Given the description of an element on the screen output the (x, y) to click on. 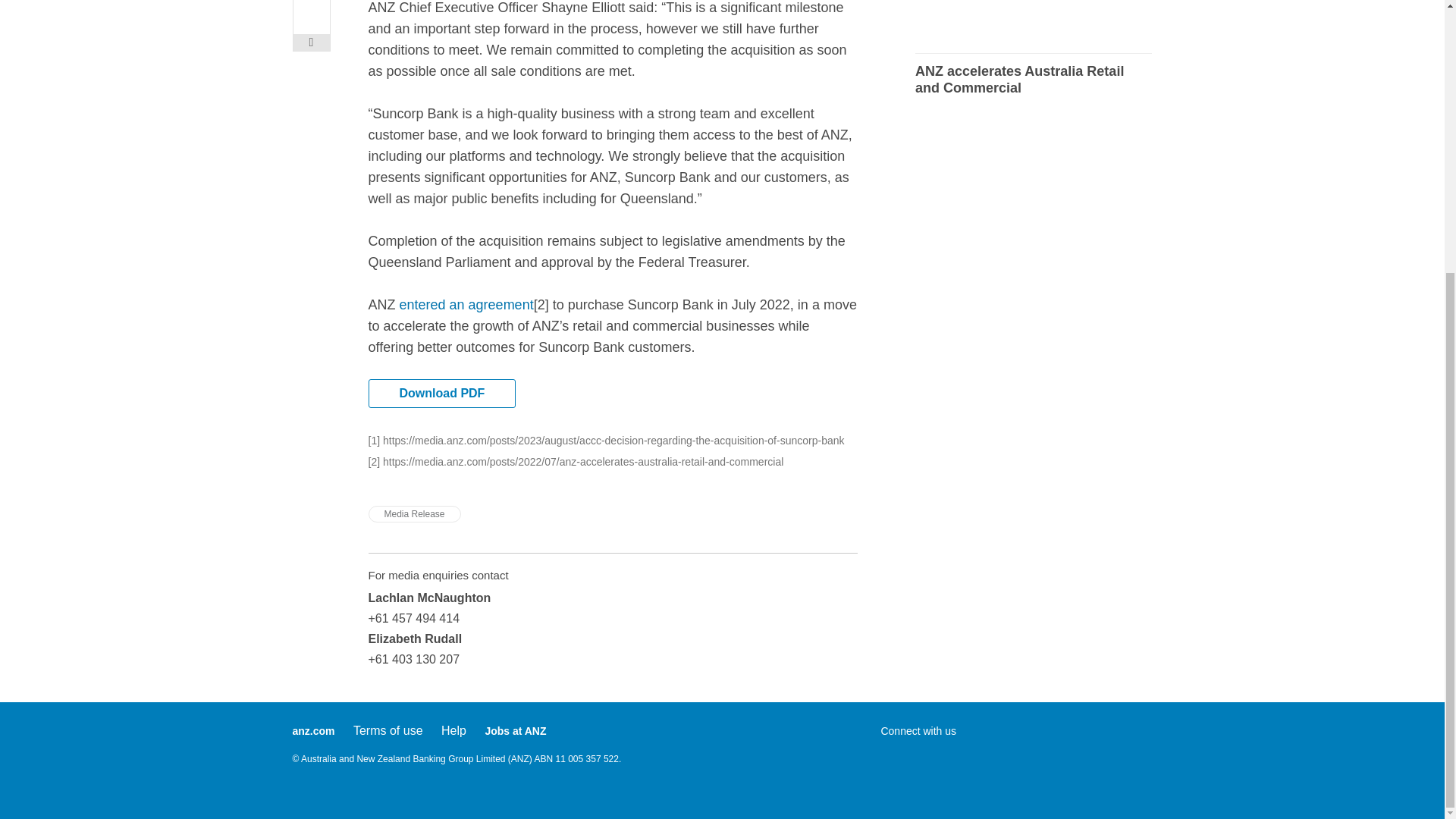
Jobs at ANZ (515, 730)
anz.com (313, 730)
ANZ accelerates Australia Retail and Commercial (1033, 79)
Download PDF (442, 393)
entered an agreement (466, 304)
Visit us on Facebook (892, 756)
anz.com (313, 730)
Jobs at ANZ (515, 730)
ANZ accelerates Australia Retail and Commercial (1033, 79)
